Given the description of an element on the screen output the (x, y) to click on. 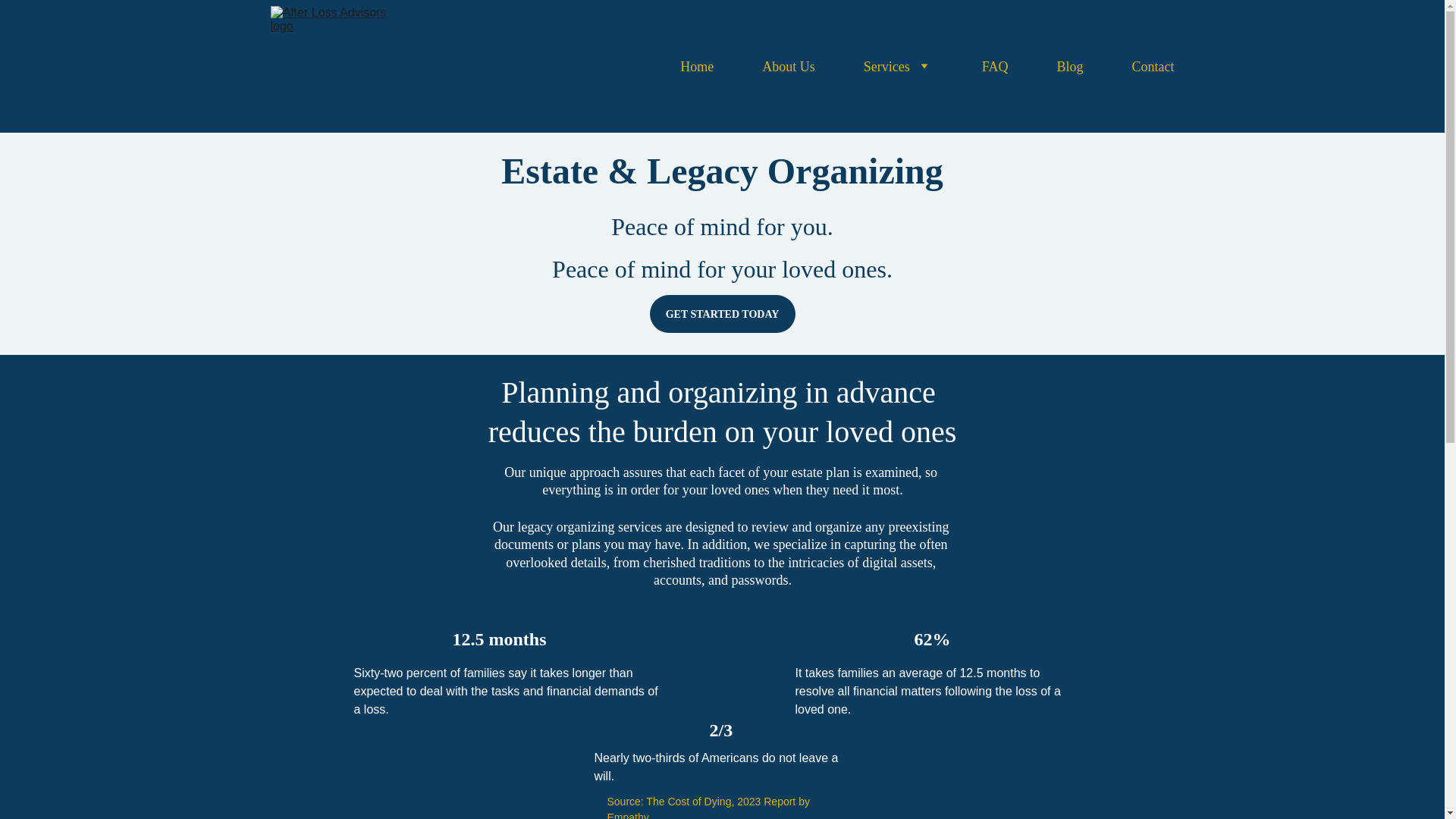
Contact (1152, 66)
Home (696, 66)
GET STARTED TODAY (721, 313)
About Us (788, 66)
Blog (1070, 66)
FAQ (995, 66)
